Given the description of an element on the screen output the (x, y) to click on. 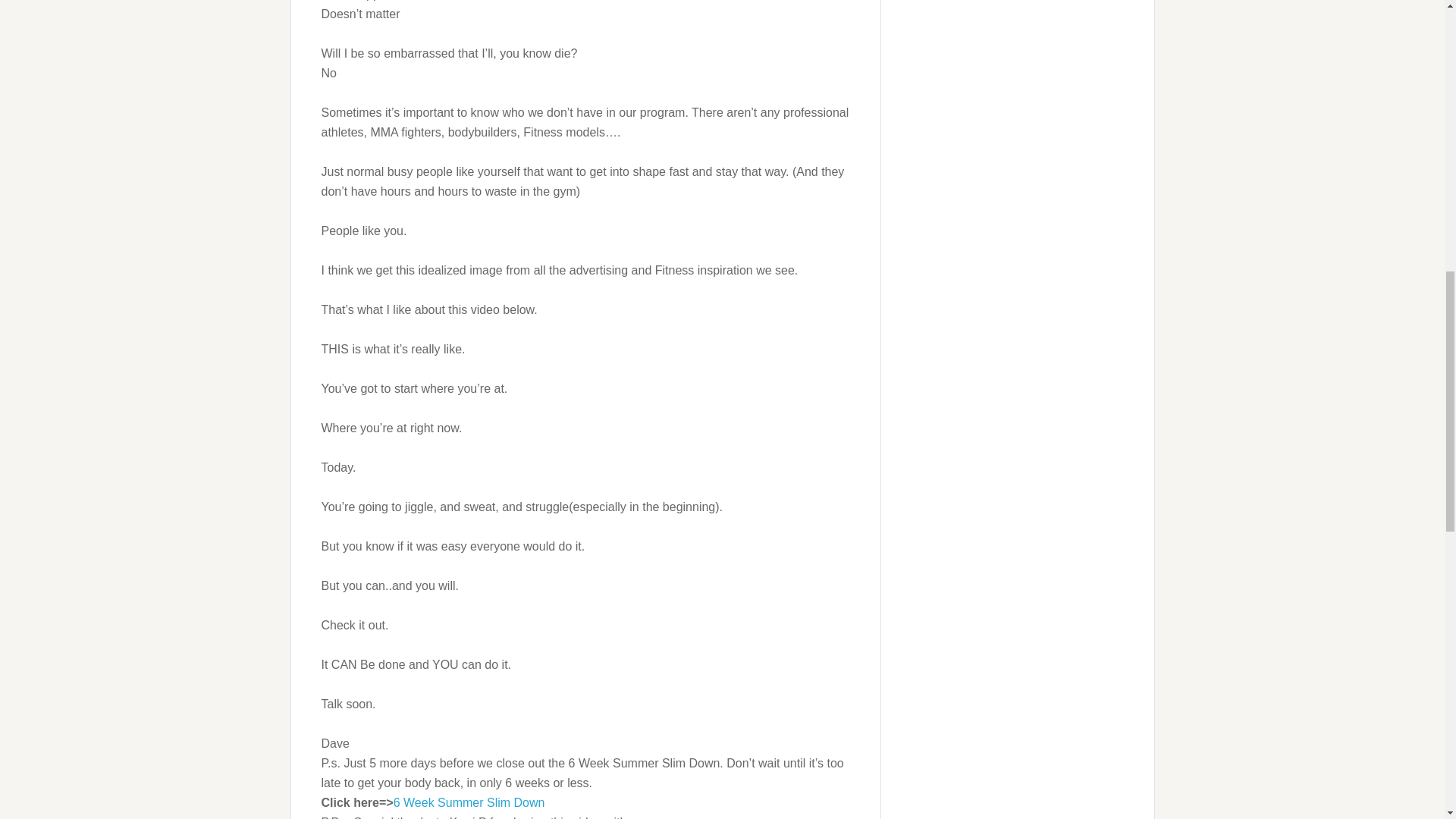
6 Week Summer Slim Down (468, 802)
